Given the description of an element on the screen output the (x, y) to click on. 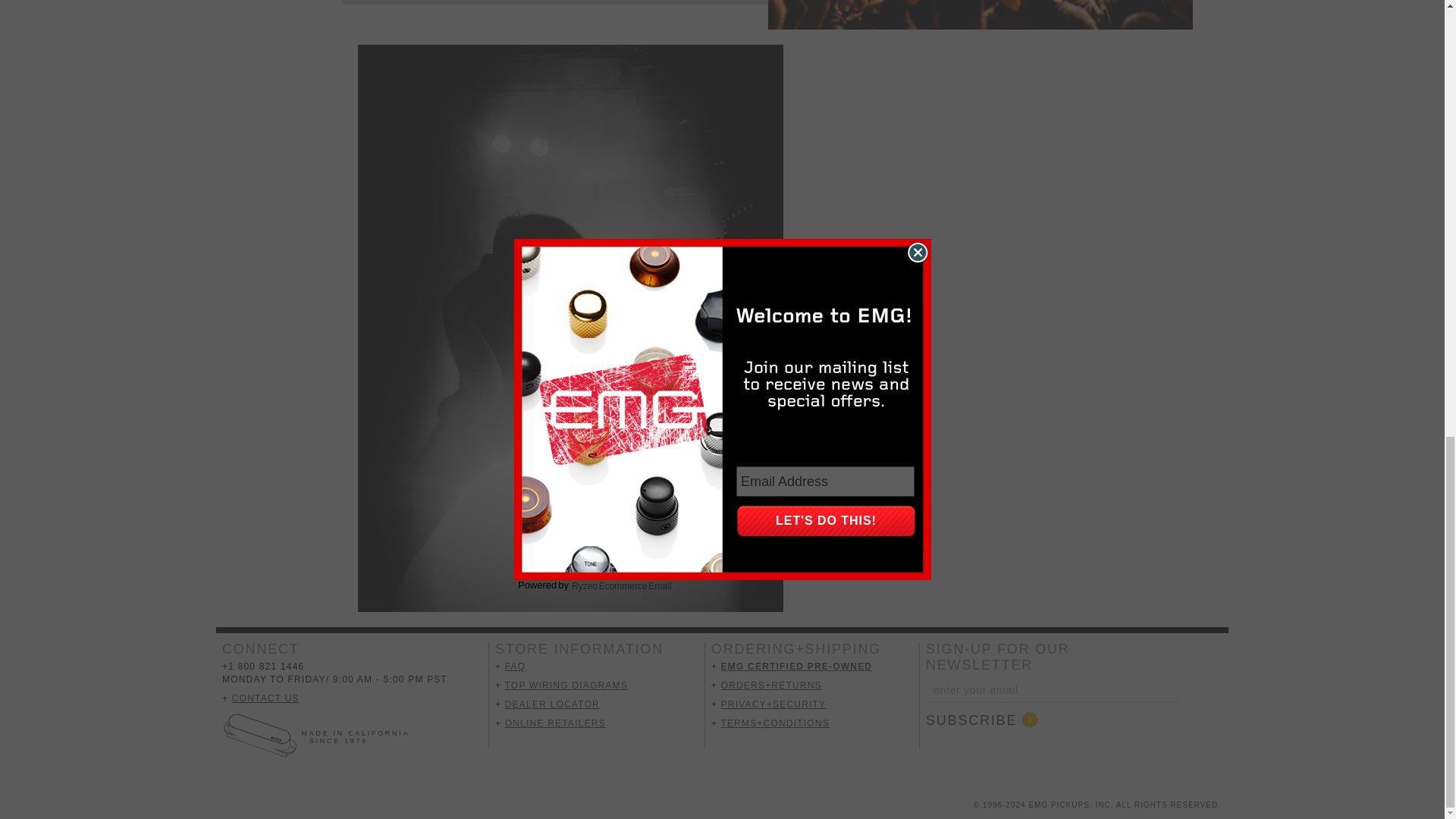
Subscribe (982, 719)
